Given the description of an element on the screen output the (x, y) to click on. 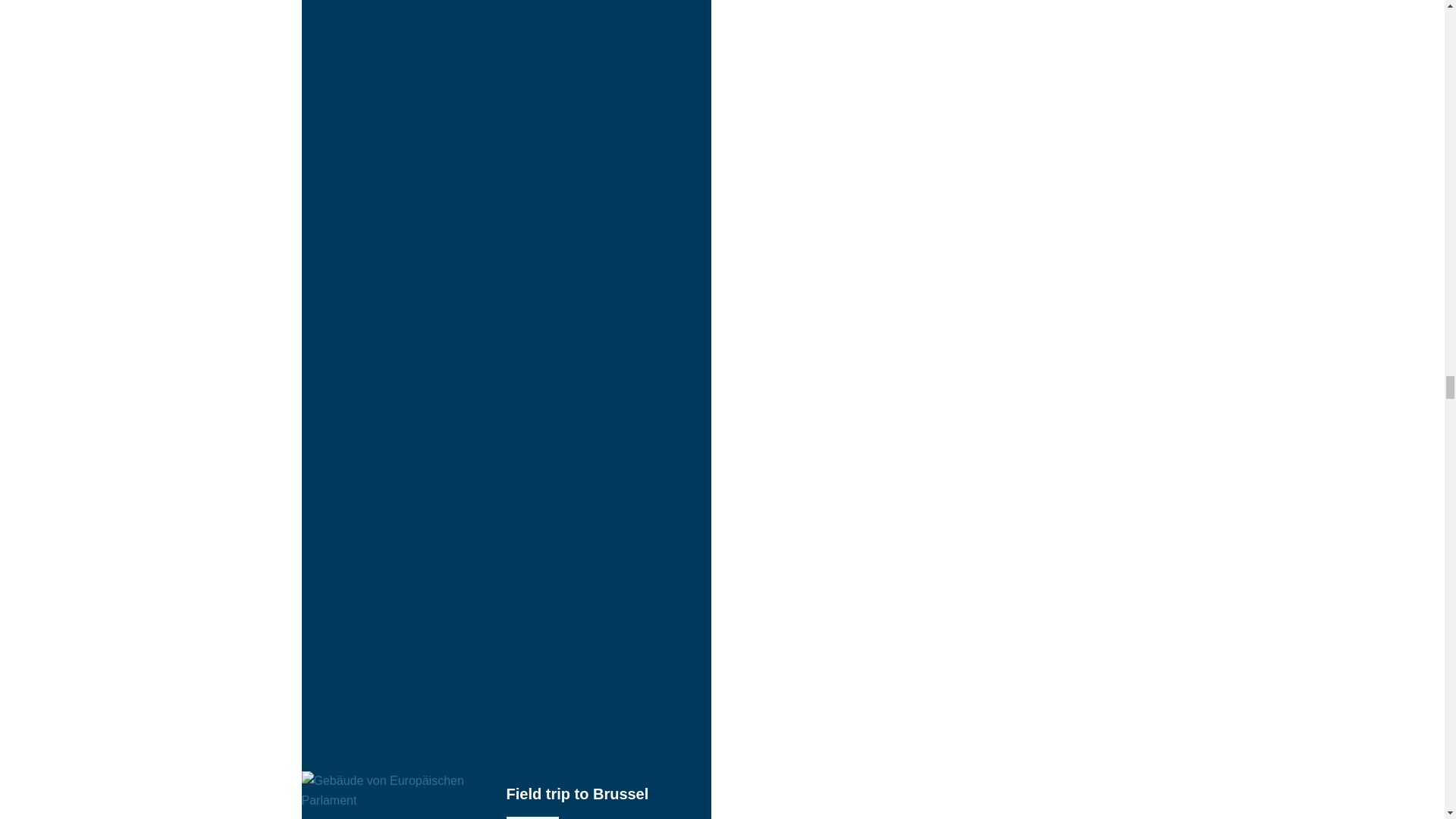
Field trip to Brussel (506, 795)
